Given the description of an element on the screen output the (x, y) to click on. 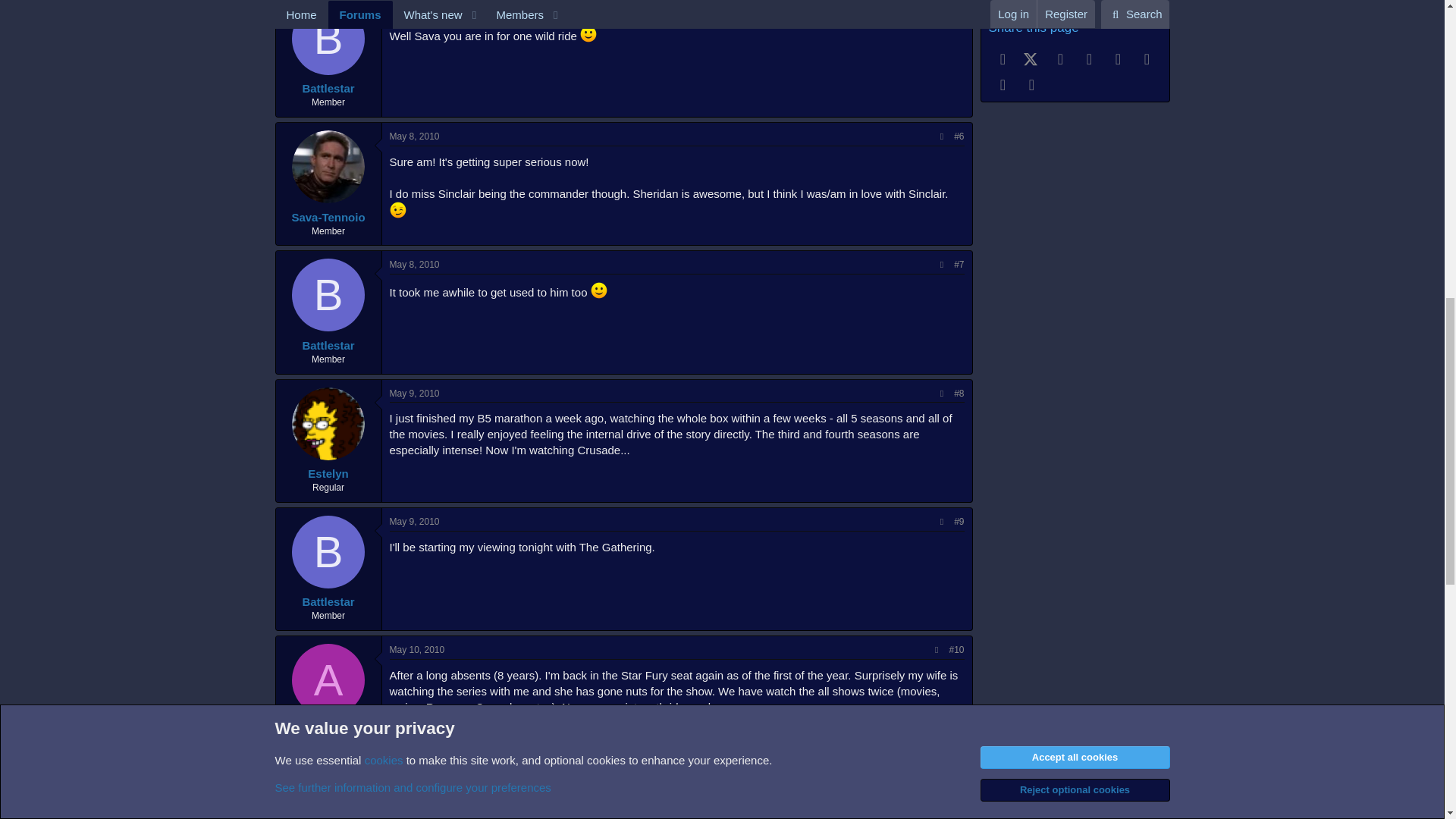
May 8, 2010 at 12:57 PM (414, 8)
May 10, 2010 at 2:04 AM (417, 649)
May 13, 2010 at 1:40 PM (417, 805)
May 8, 2010 at 4:58 PM (414, 136)
May 9, 2010 at 4:42 PM (414, 393)
May 9, 2010 at 6:07 PM (414, 521)
May 8, 2010 at 7:29 PM (414, 264)
